Given the description of an element on the screen output the (x, y) to click on. 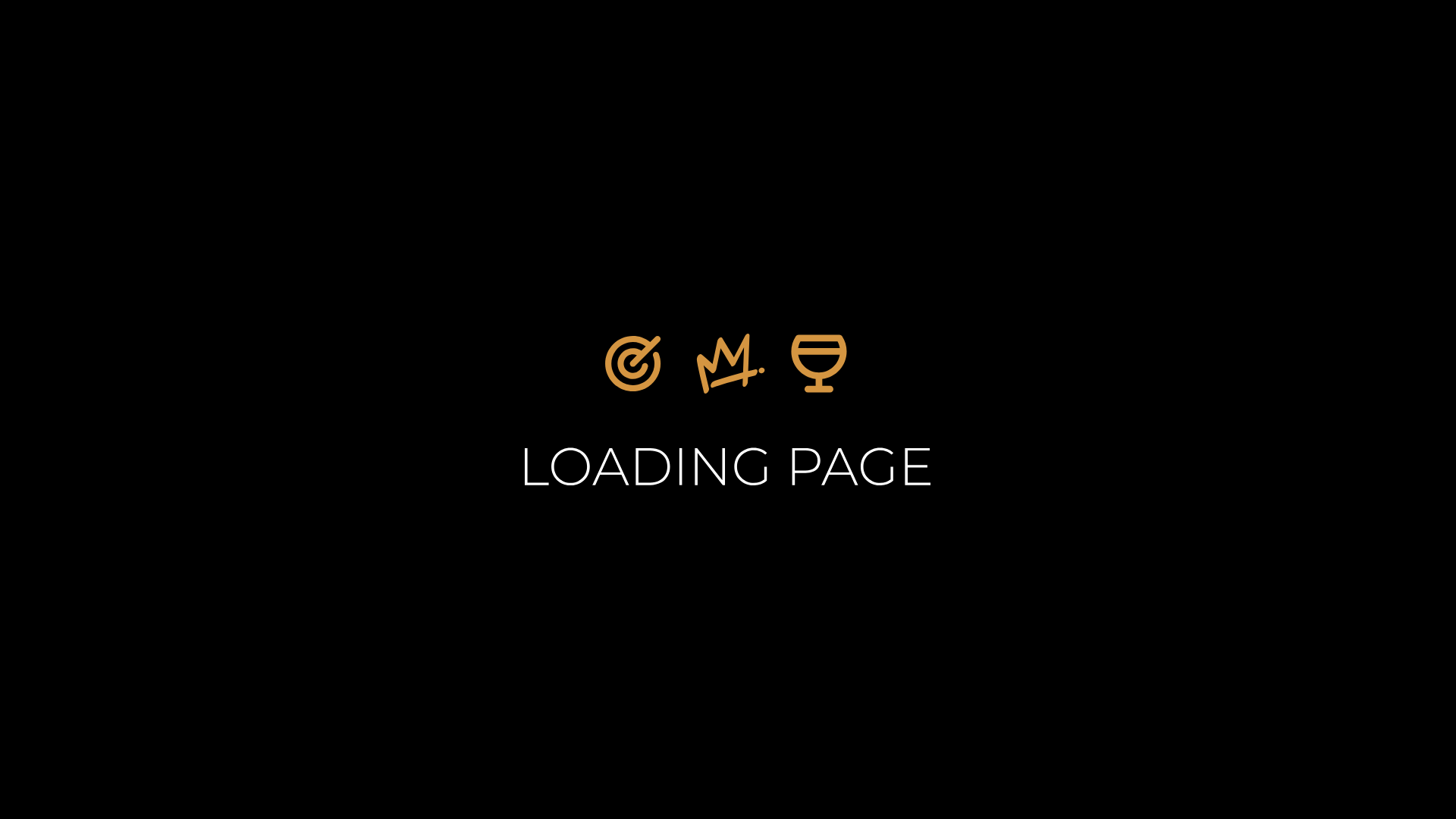
HOME Element type: text (770, 523)
